Given the description of an element on the screen output the (x, y) to click on. 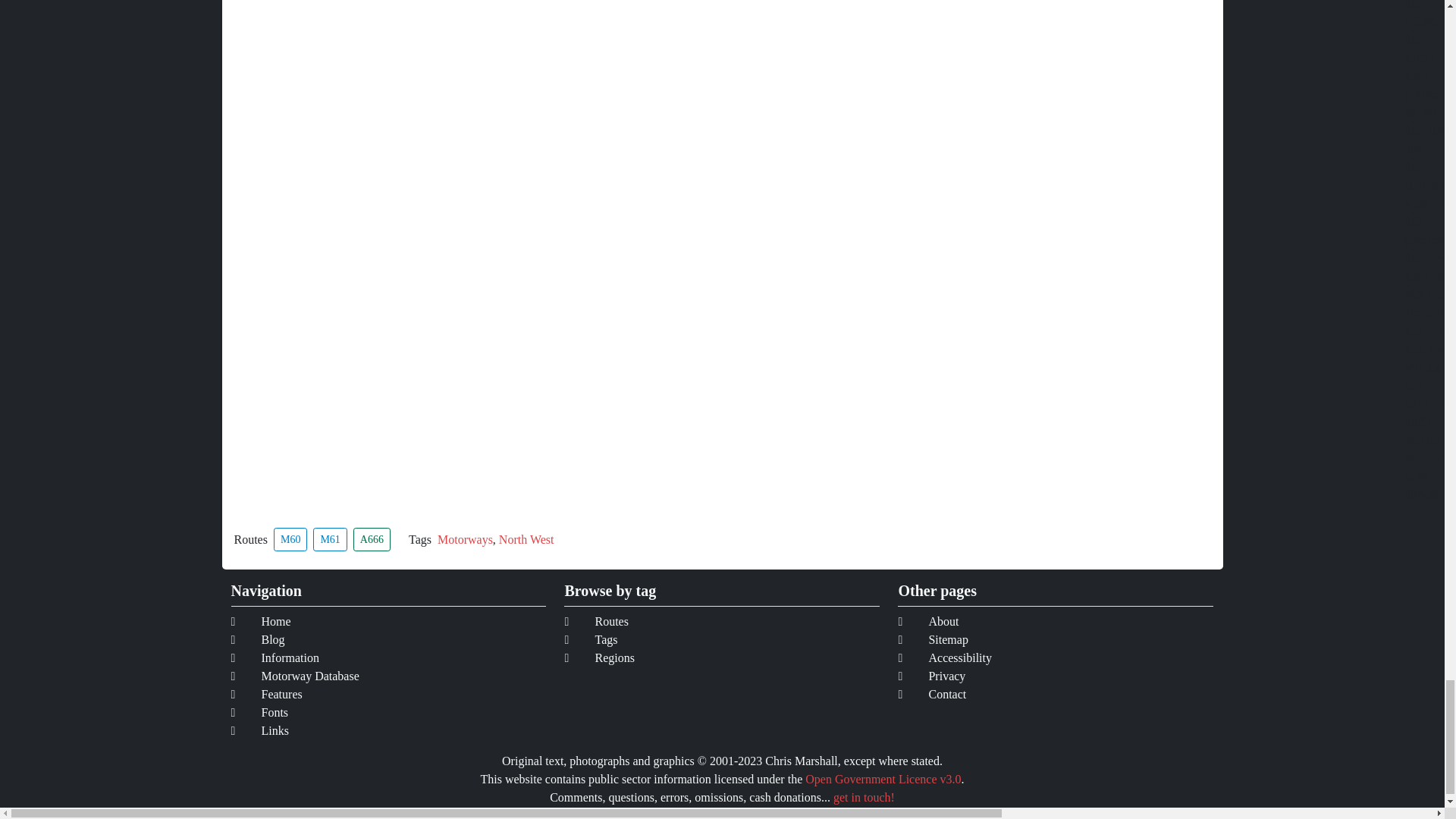
North West (526, 538)
A666 (371, 539)
M61 (329, 539)
M60 (290, 539)
Motorways (465, 538)
